Given the description of an element on the screen output the (x, y) to click on. 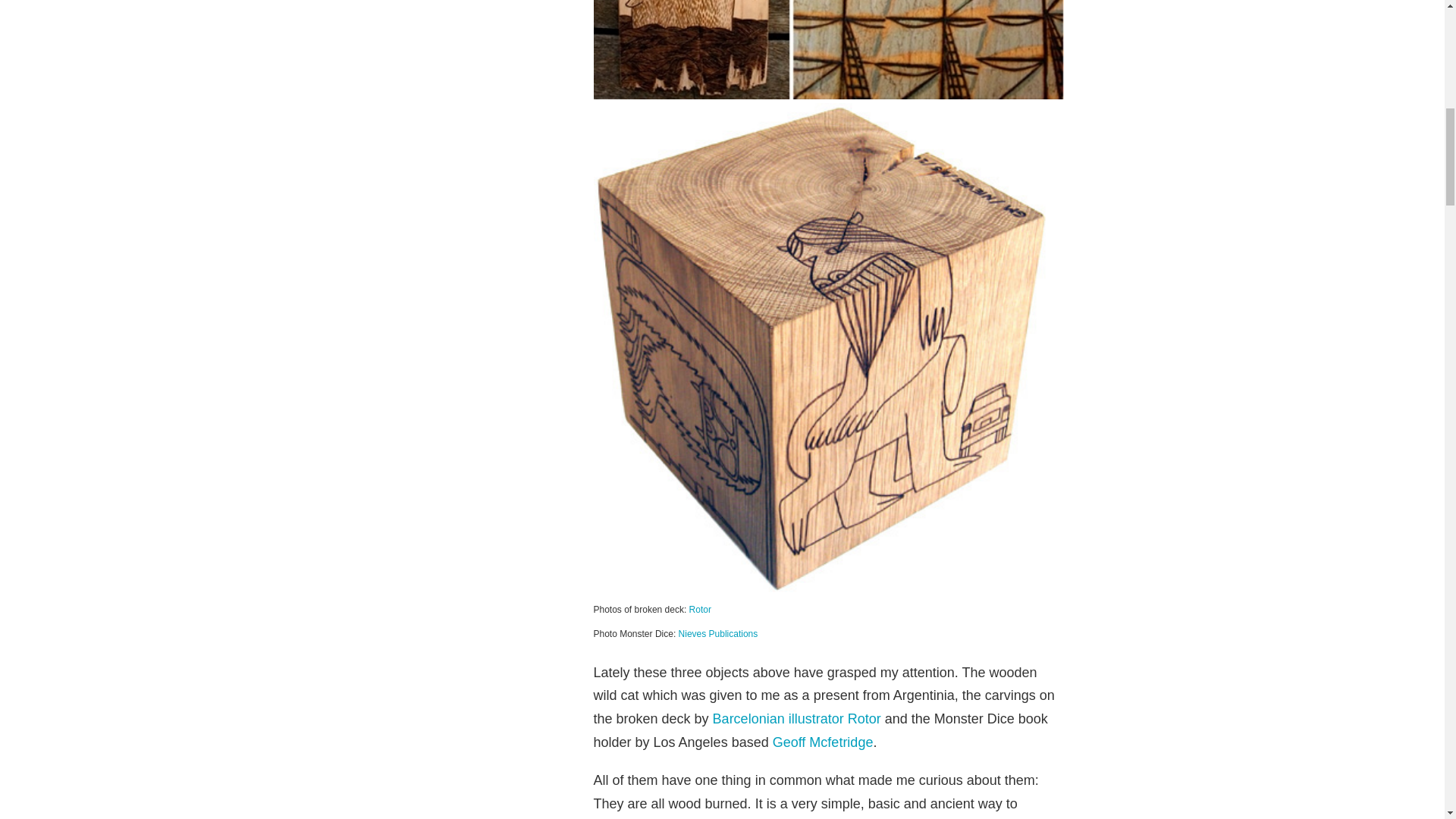
Rotor (699, 609)
Barcelonian illustrator Rotor (796, 718)
Geoff Mcfetridge (823, 742)
Nieves Publications (718, 633)
